Given the description of an element on the screen output the (x, y) to click on. 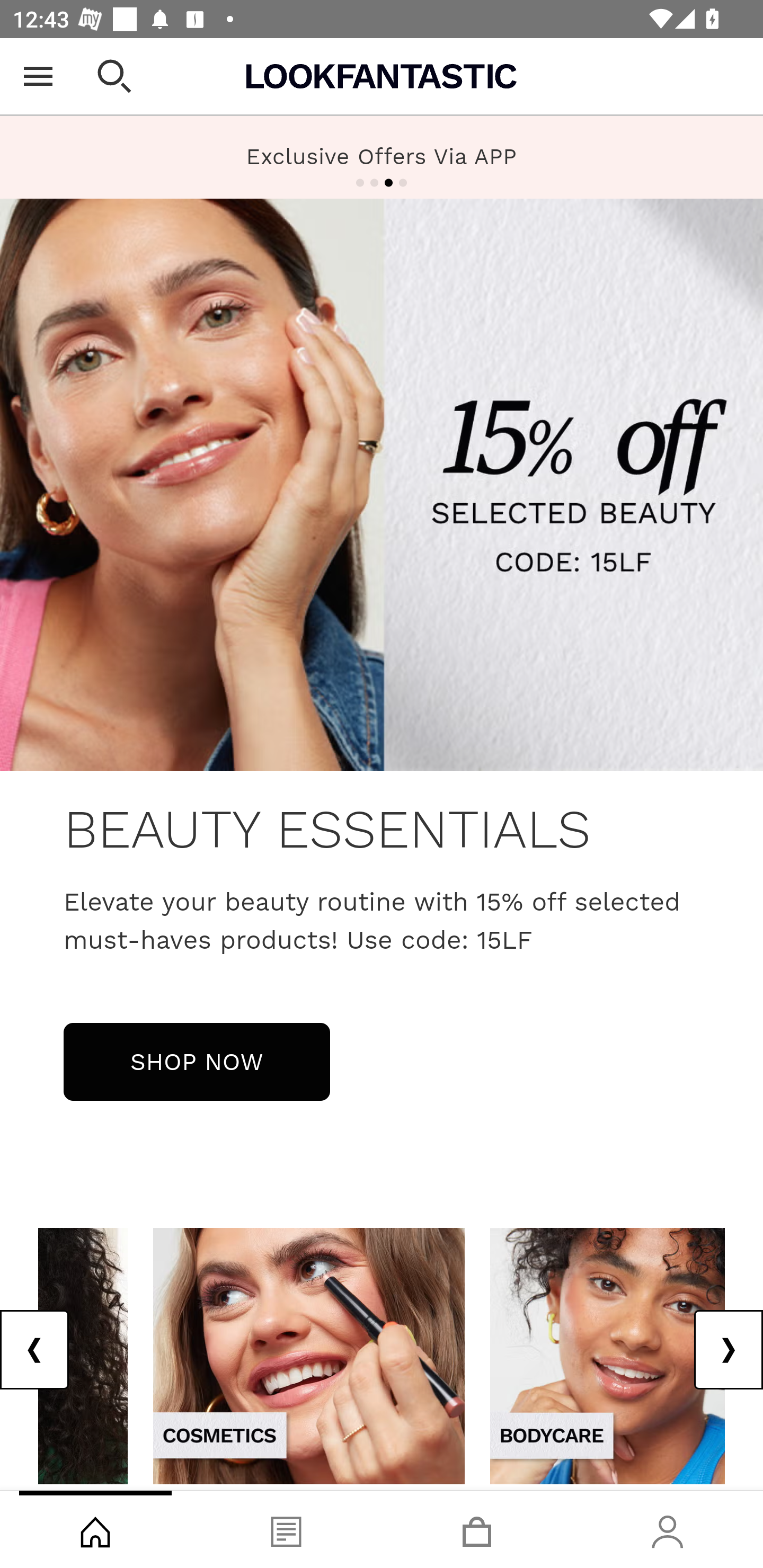
Open Menu (38, 75)
Open search (114, 75)
Lookfantastic USA (381, 75)
SHOP NOW (196, 1061)
view-all (308, 1355)
view-all (606, 1355)
Previous (35, 1349)
Next (727, 1349)
Shop, tab, 1 of 4 (95, 1529)
Blog, tab, 2 of 4 (285, 1529)
Basket, tab, 3 of 4 (476, 1529)
Account, tab, 4 of 4 (667, 1529)
